Given the description of an element on the screen output the (x, y) to click on. 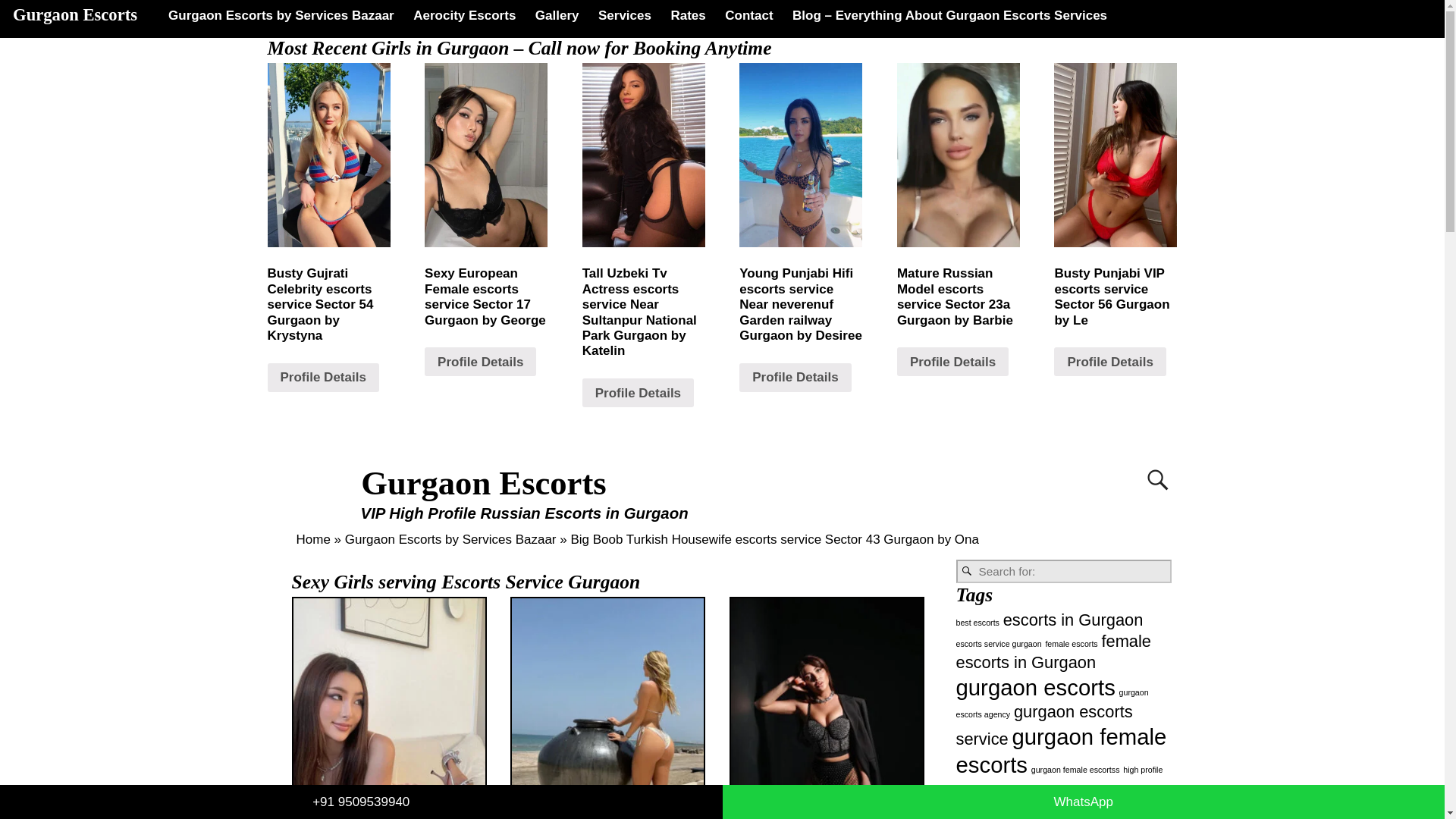
Profile Details (322, 377)
Profile Details (794, 377)
Gurgaon Escorts (74, 14)
Aerocity Escorts (464, 15)
Services (624, 15)
Gurgaon Escorts (483, 483)
Profile Details (638, 392)
Profile Details (952, 361)
Gurgaon Escorts by Services Bazaar (280, 15)
Contact (749, 15)
Profile Details (480, 361)
Gallery (556, 15)
Gurgaon Escorts by Services Bazaar (450, 539)
Gurgaon Escorts (483, 483)
Rates (688, 15)
